Given the description of an element on the screen output the (x, y) to click on. 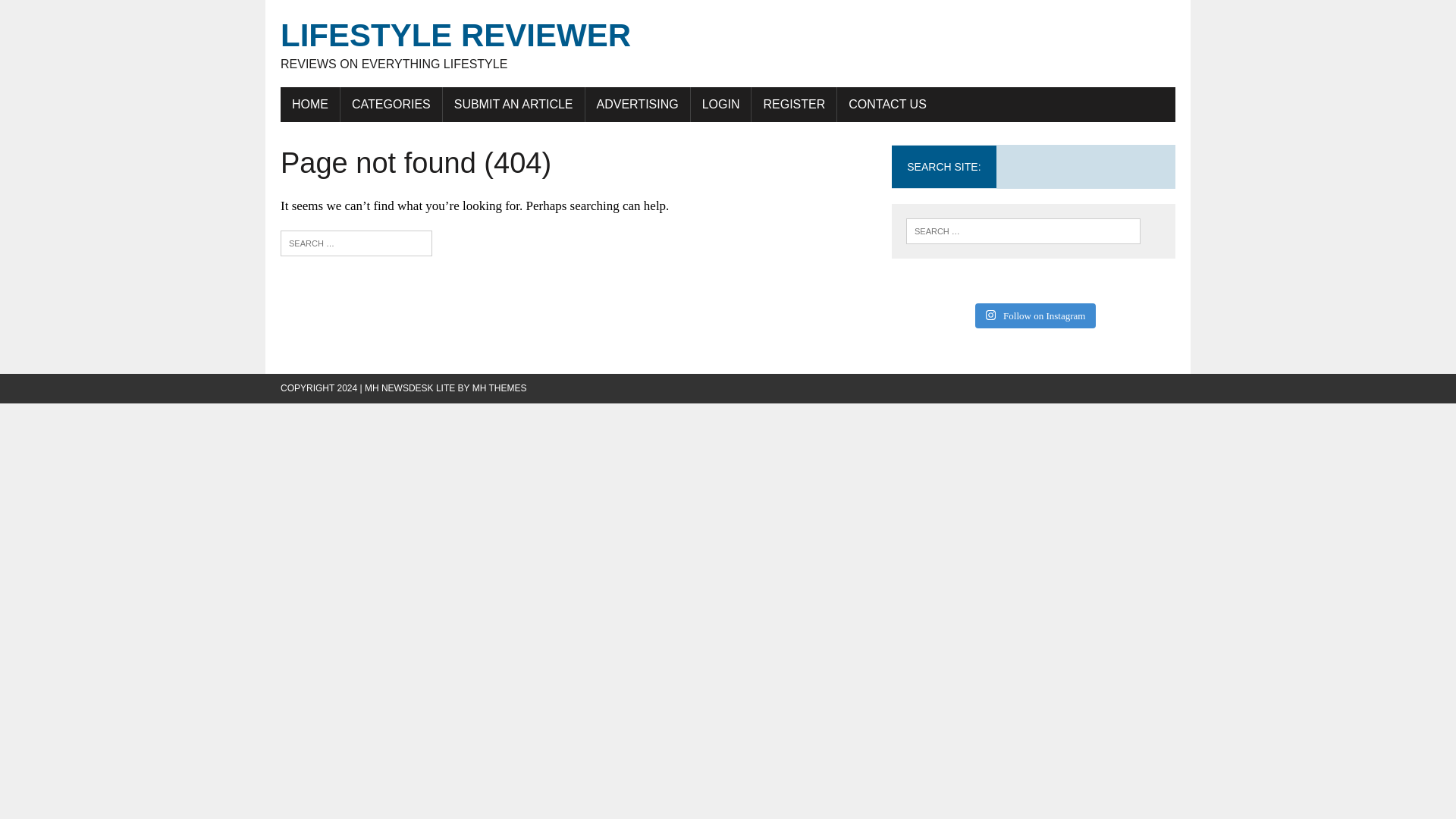
Lifestyle Reviewer (727, 43)
CATEGORIES (727, 43)
HOME (391, 104)
